Given the description of an element on the screen output the (x, y) to click on. 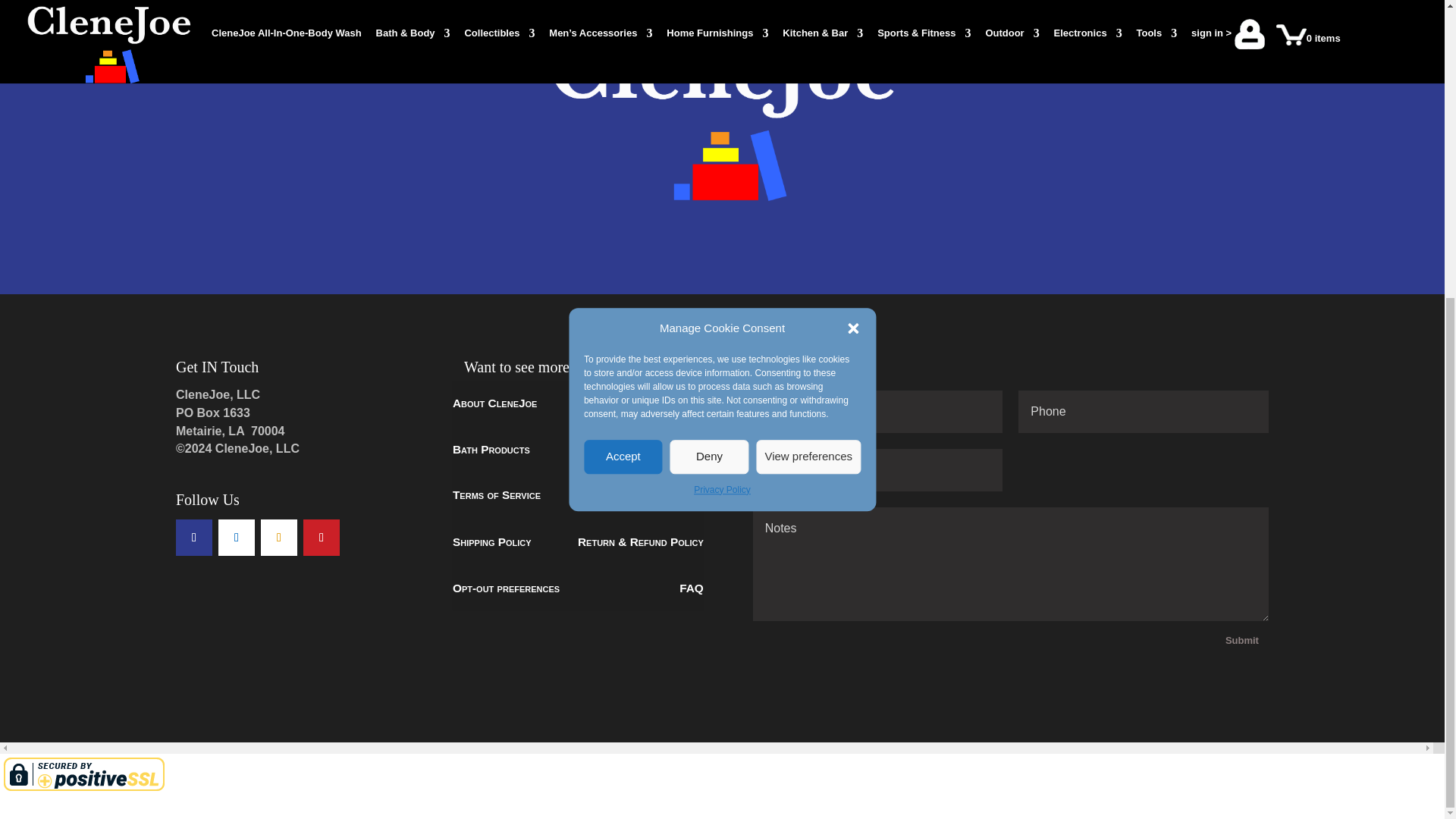
Follow on X (236, 537)
Follow on Pinterest (320, 537)
Follow on Instagram (278, 537)
Minimum length: 10 characters.  (1142, 411)
View preferences (807, 6)
Accept (622, 6)
Follow on Facebook (194, 537)
Privacy Policy (722, 30)
Deny (709, 6)
